Given the description of an element on the screen output the (x, y) to click on. 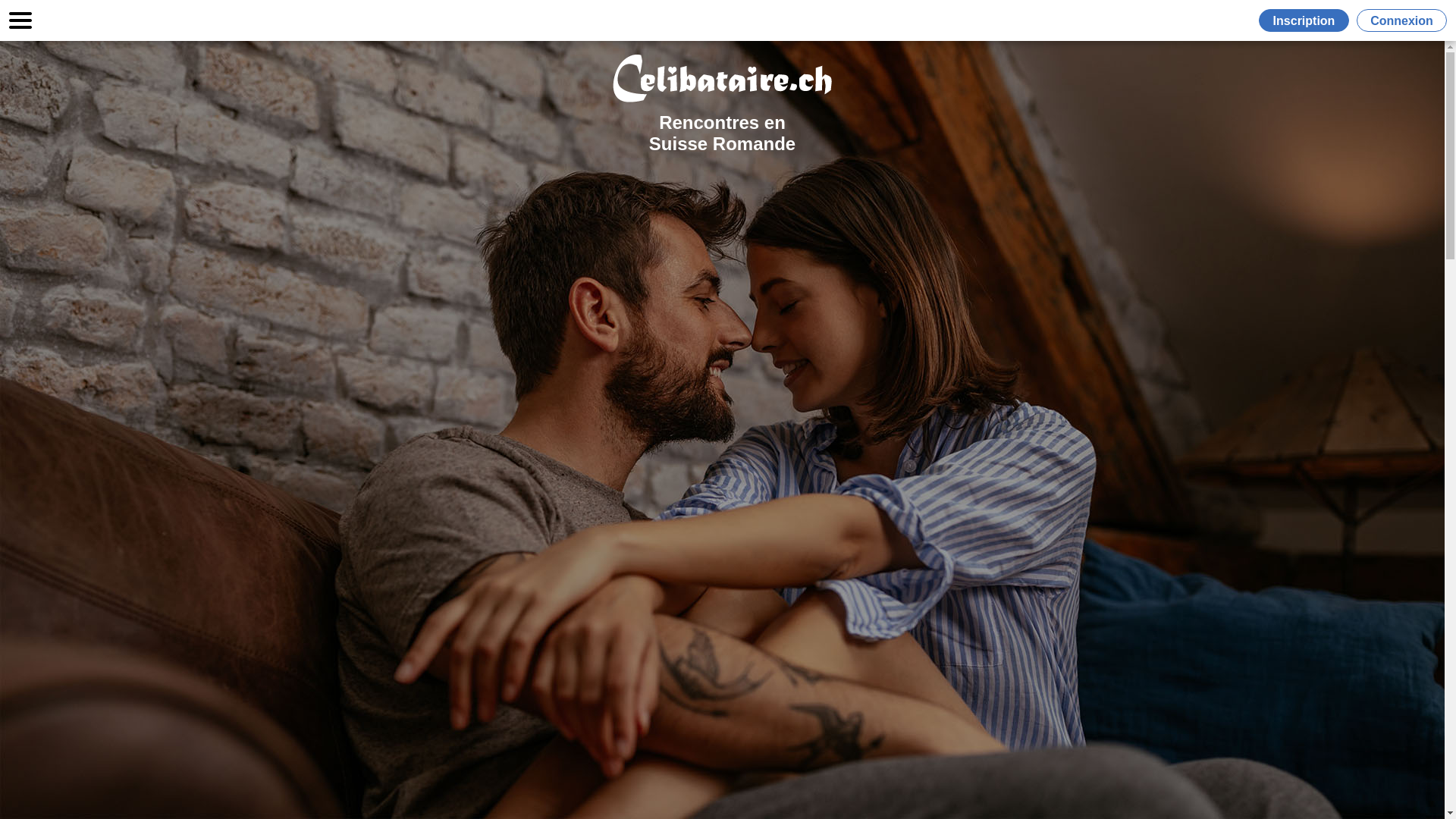
Inscription Element type: text (1307, 20)
Connexion Element type: text (1401, 20)
